Given the description of an element on the screen output the (x, y) to click on. 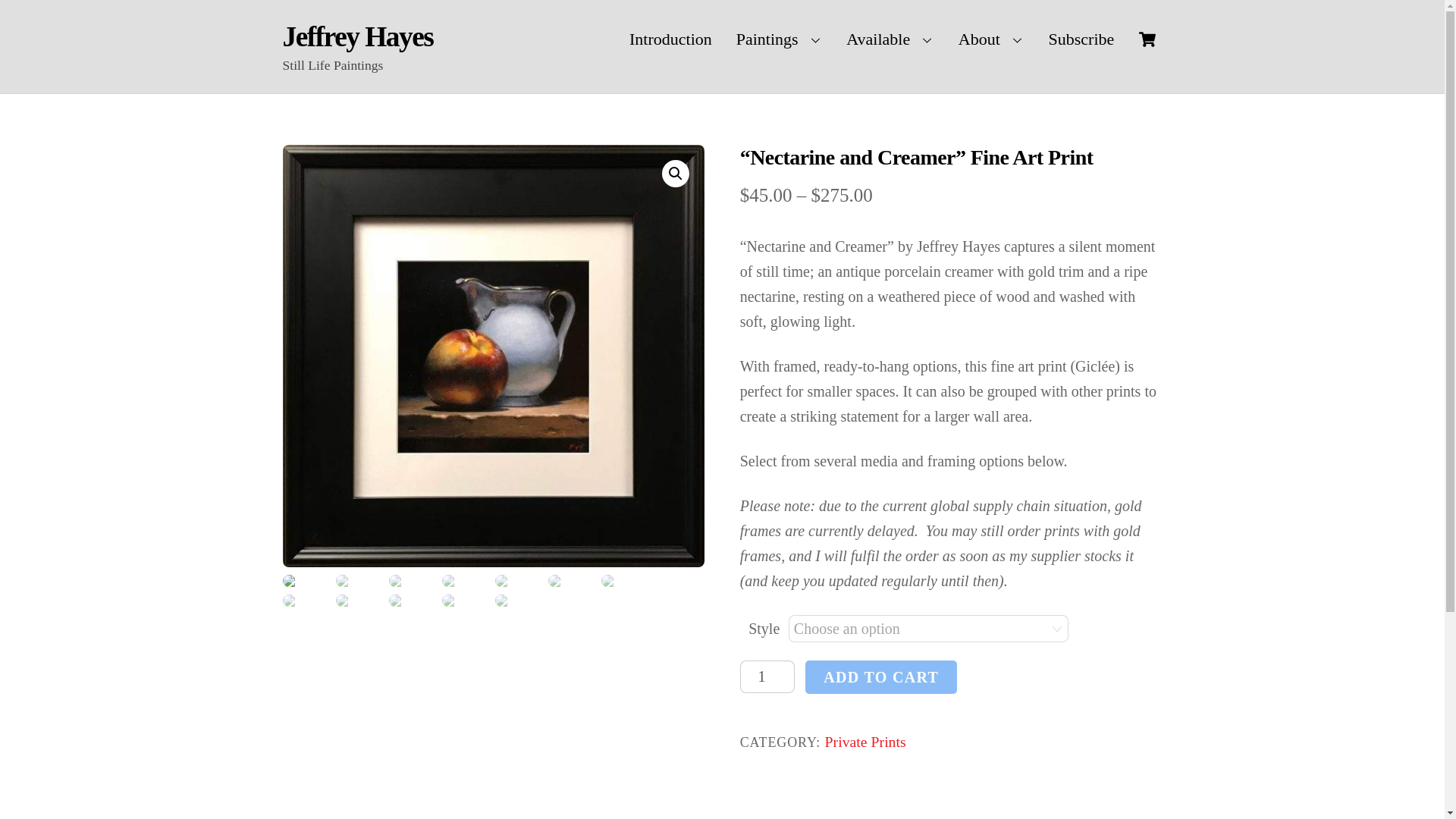
ADD TO CART (880, 676)
1 (766, 676)
Jeffrey Hayes (357, 36)
Cart (1146, 39)
Introduction (671, 38)
About (991, 38)
Available (889, 38)
Qty (766, 676)
Paintings (779, 38)
